Given the description of an element on the screen output the (x, y) to click on. 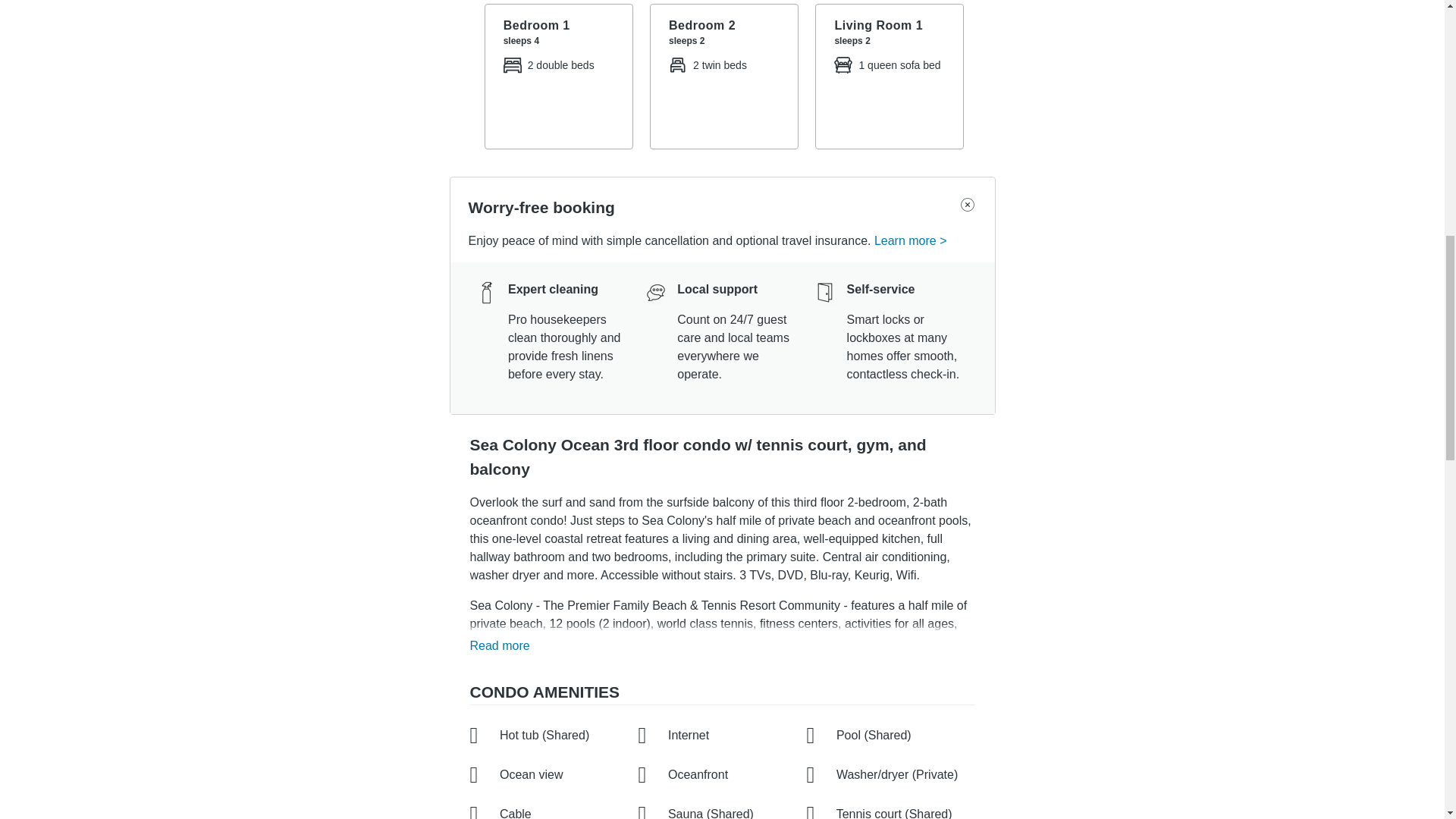
Read more  (504, 646)
